Given the description of an element on the screen output the (x, y) to click on. 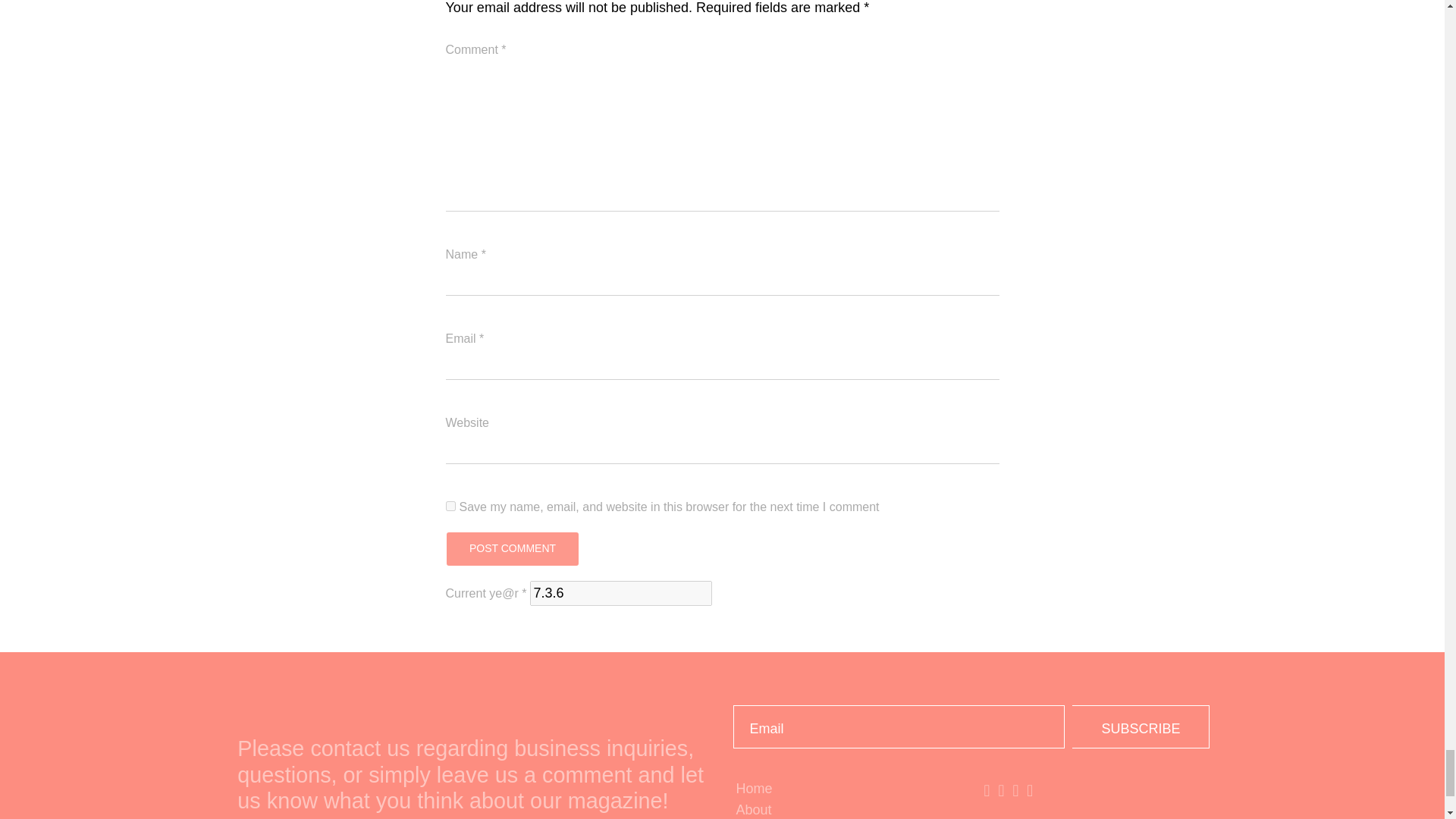
7.3.6 (620, 593)
Home (845, 789)
yes (450, 506)
Subscribe (1140, 726)
About (845, 809)
Post Comment (511, 548)
